Given the description of an element on the screen output the (x, y) to click on. 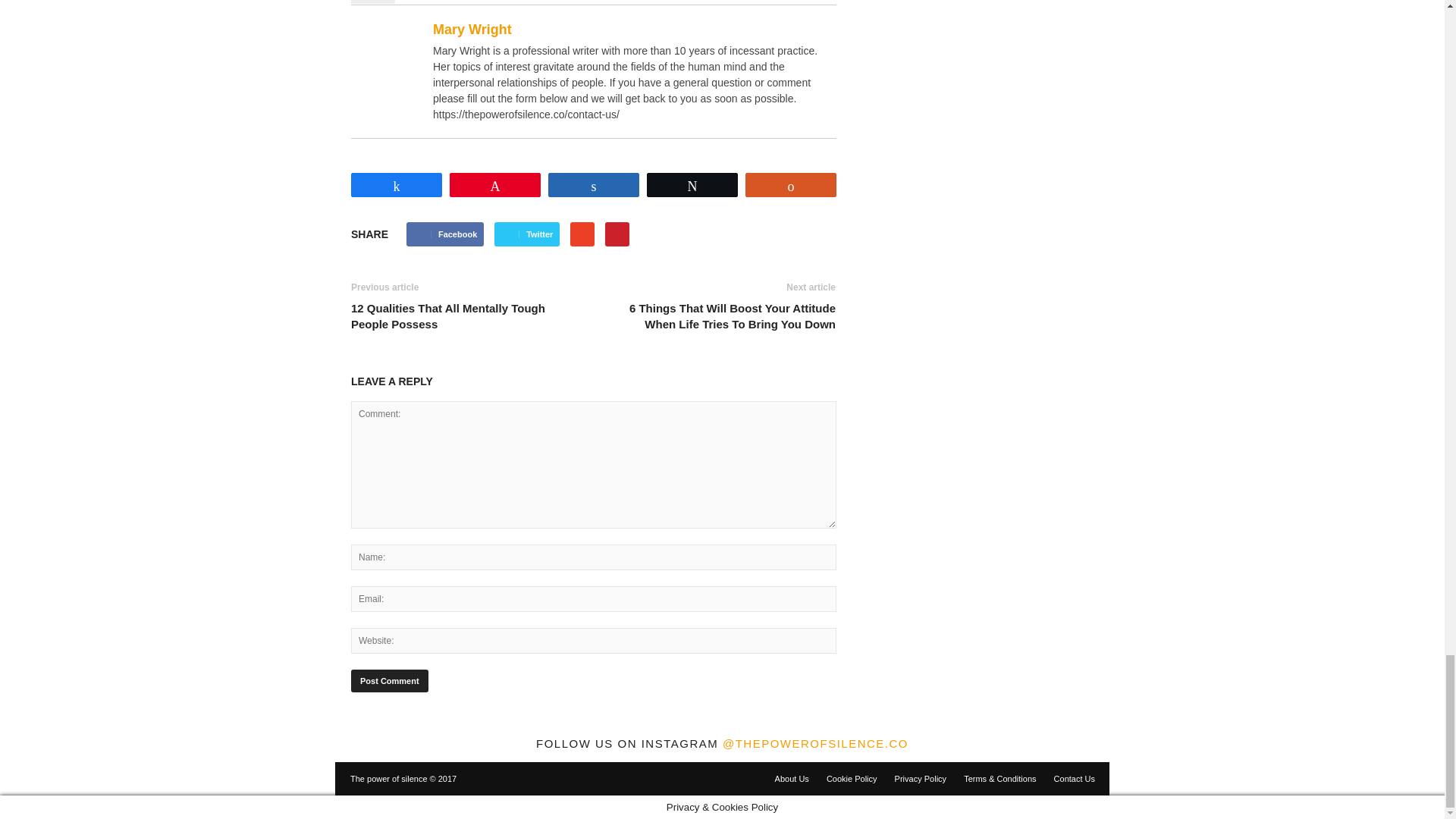
Post Comment (389, 680)
Mary Wright (389, 57)
